Given the description of an element on the screen output the (x, y) to click on. 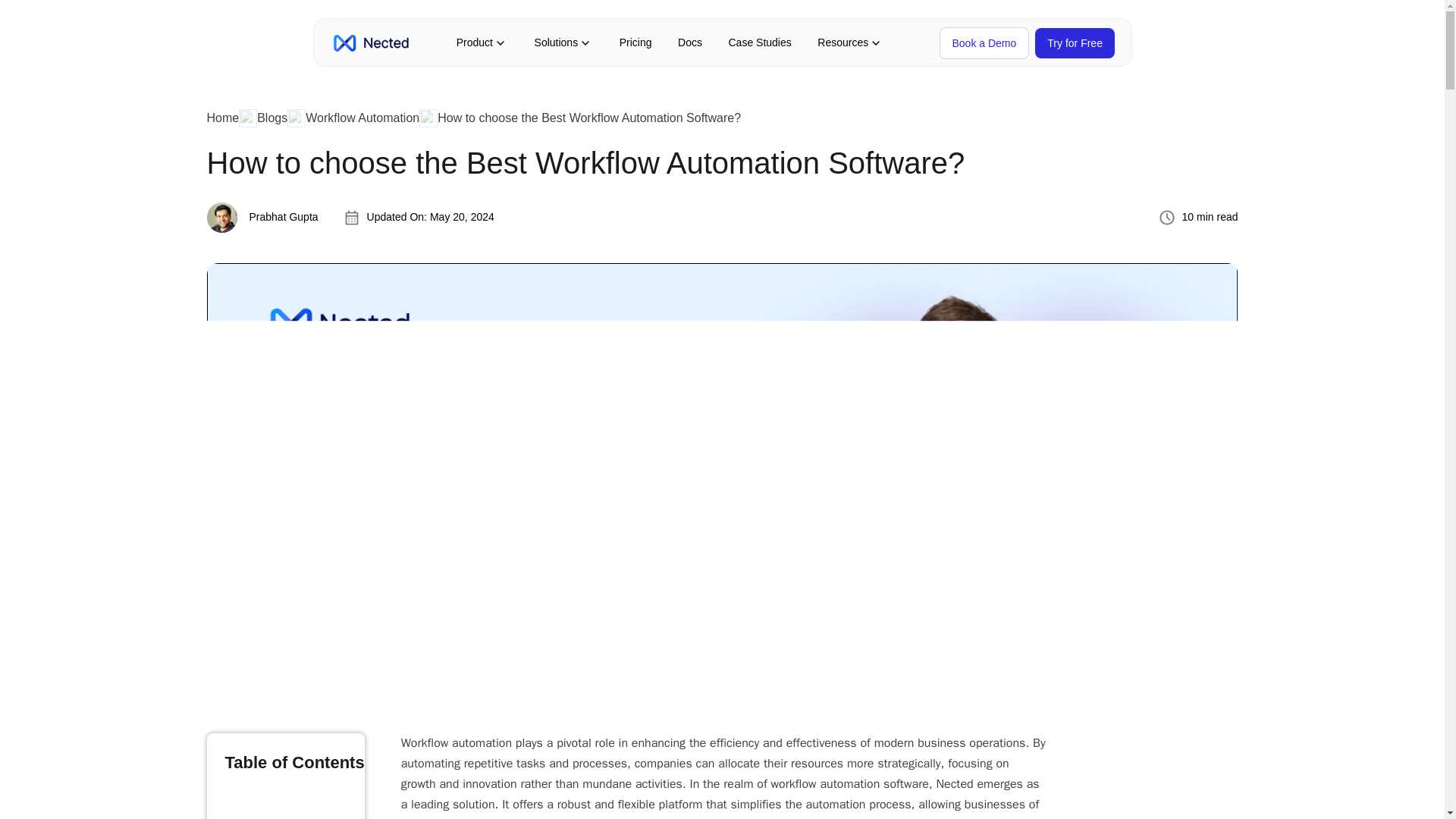
Case Studies (759, 42)
Docs (689, 42)
Pricing (636, 42)
Table of Contents (285, 776)
